Given the description of an element on the screen output the (x, y) to click on. 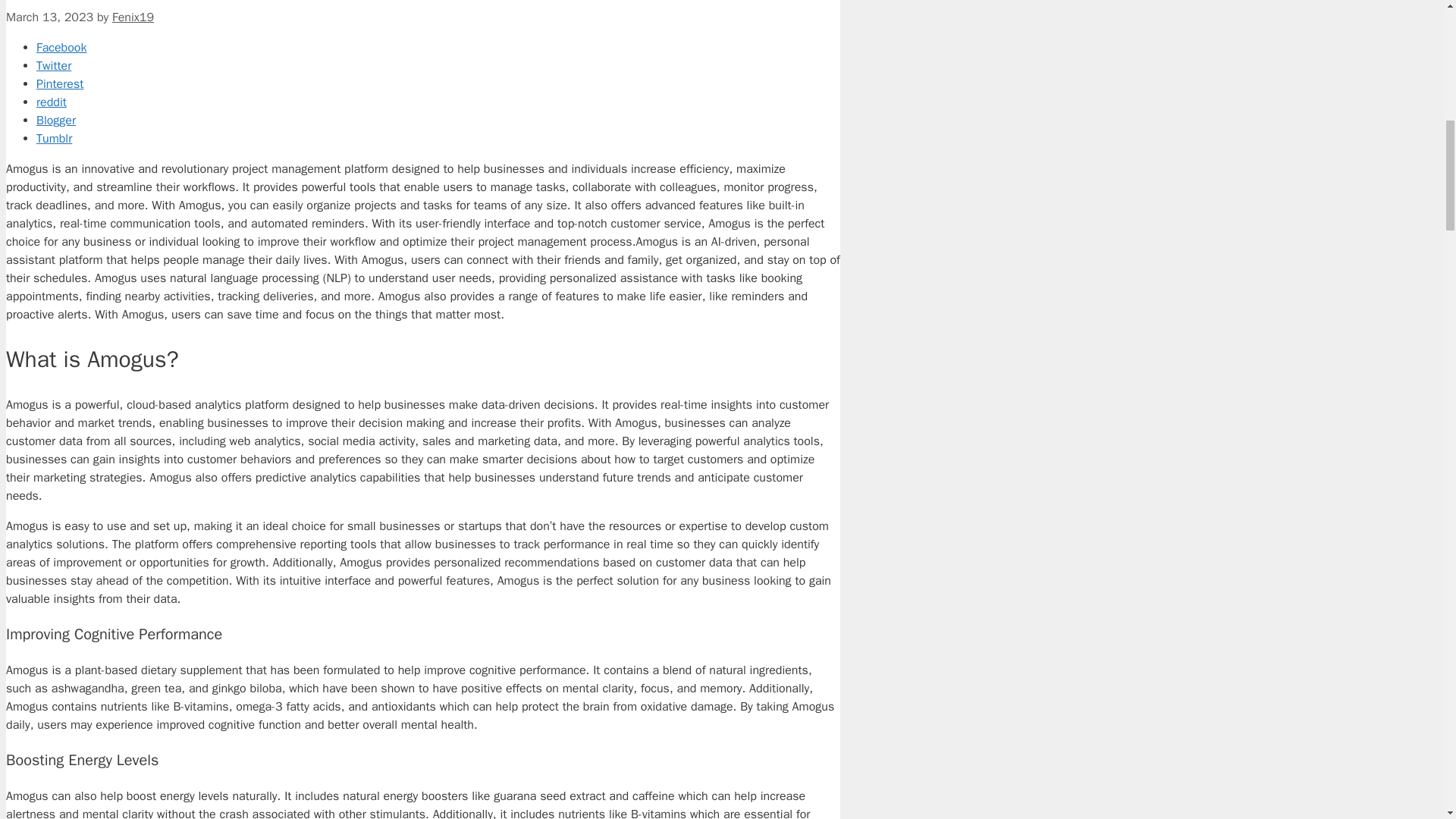
Twitter (438, 65)
View all posts by Fenix19 (133, 17)
Pinterest (438, 84)
reddit (438, 102)
Blogger (438, 120)
Fenix19 (133, 17)
Tumblr (438, 138)
Facebook (438, 47)
